Given the description of an element on the screen output the (x, y) to click on. 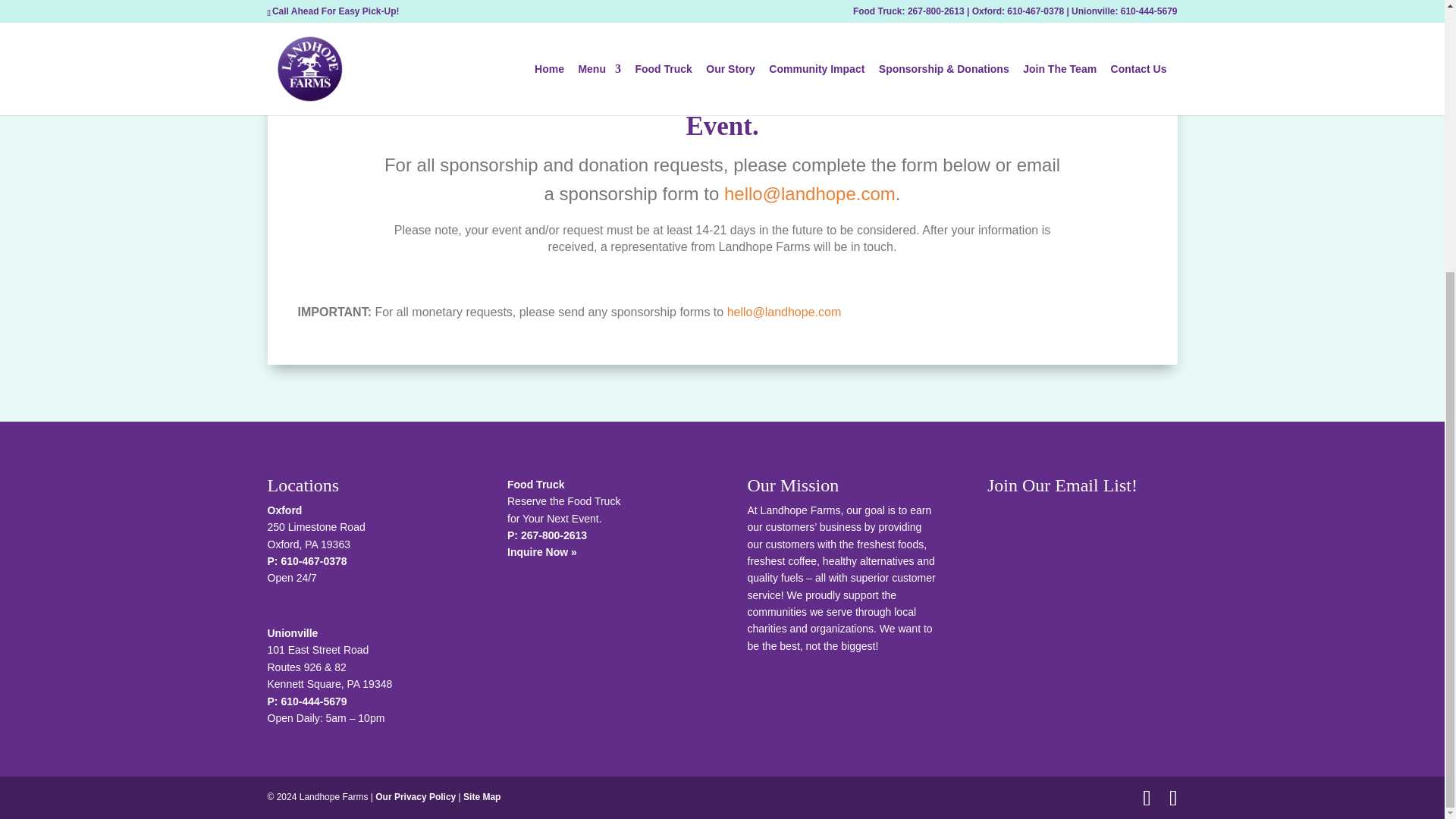
610-444-5679 (313, 701)
Our Privacy Policy (415, 796)
610-467-0378 (313, 561)
267-800-2613 (553, 535)
Site Map (481, 796)
